Given the description of an element on the screen output the (x, y) to click on. 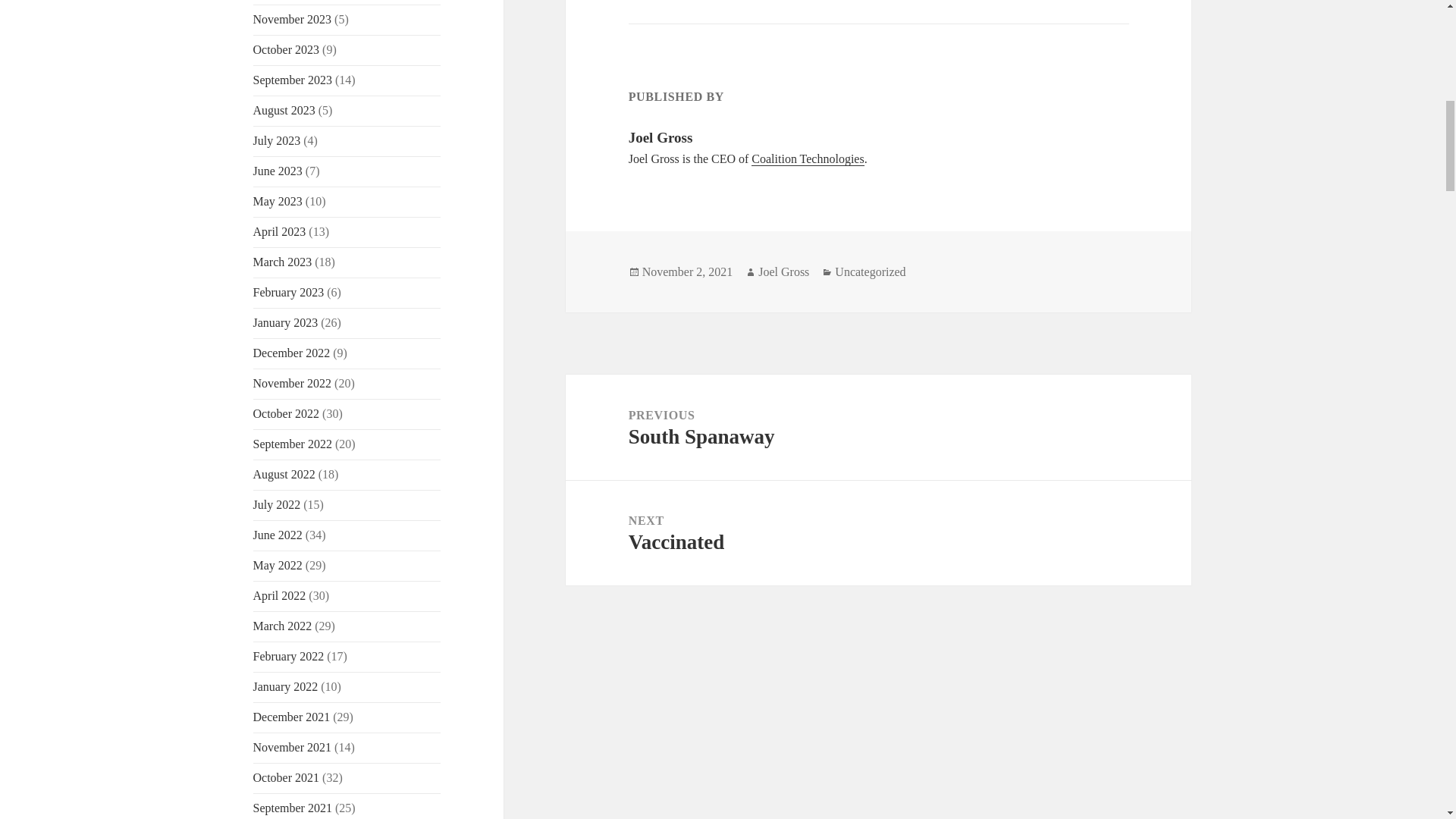
February 2023 (288, 291)
May 2022 (277, 564)
October 2023 (286, 49)
April 2023 (279, 231)
March 2023 (283, 261)
September 2022 (292, 443)
October 2022 (286, 413)
August 2023 (284, 110)
August 2022 (284, 473)
September 2023 (292, 79)
December 2022 (291, 352)
May 2023 (277, 201)
November 2022 (292, 382)
February 2022 (288, 656)
July 2023 (277, 140)
